Given the description of an element on the screen output the (x, y) to click on. 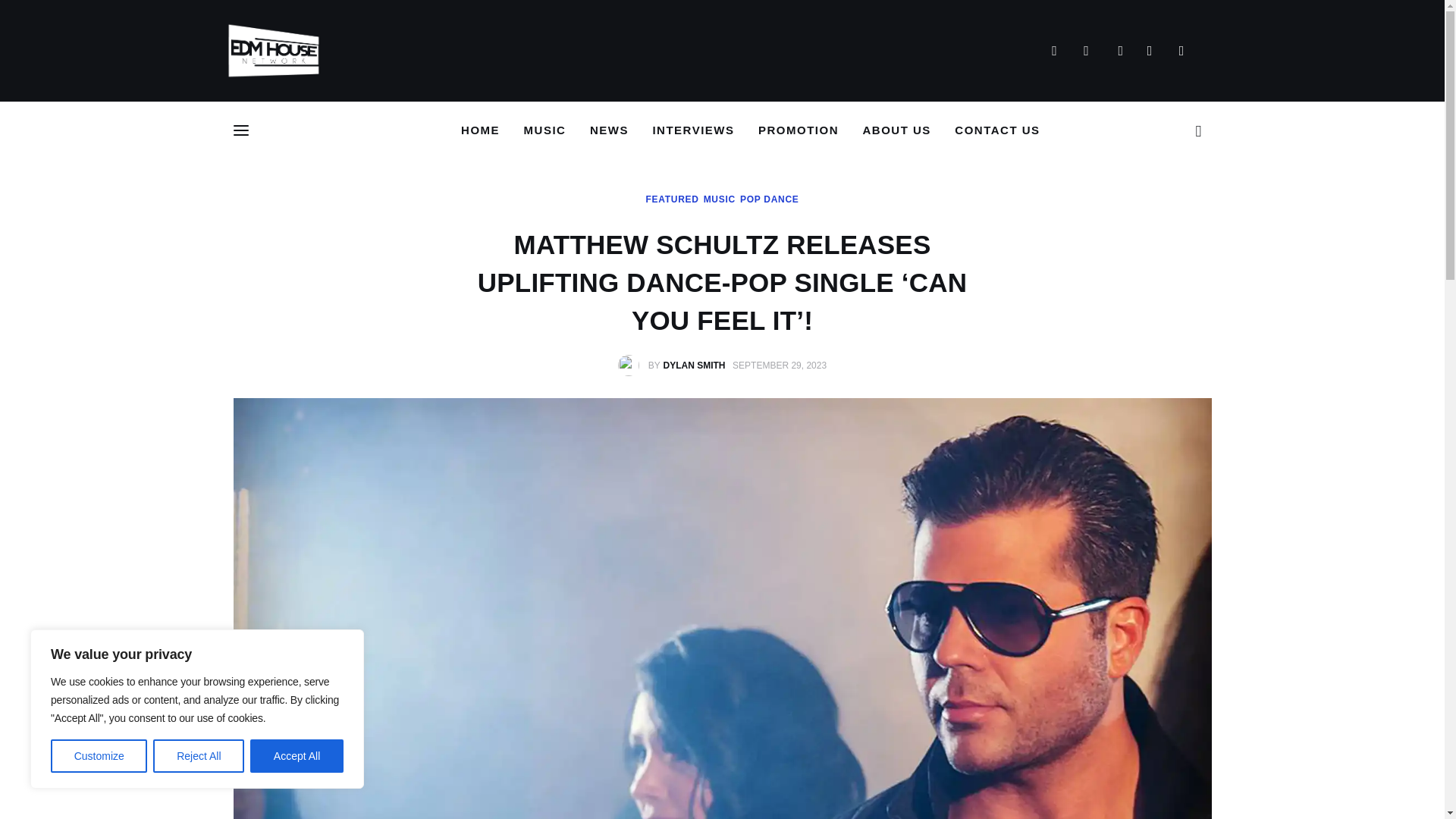
Reject All (198, 756)
HOME (480, 129)
Accept All (296, 756)
Customize (98, 756)
MUSIC (545, 129)
